Given the description of an element on the screen output the (x, y) to click on. 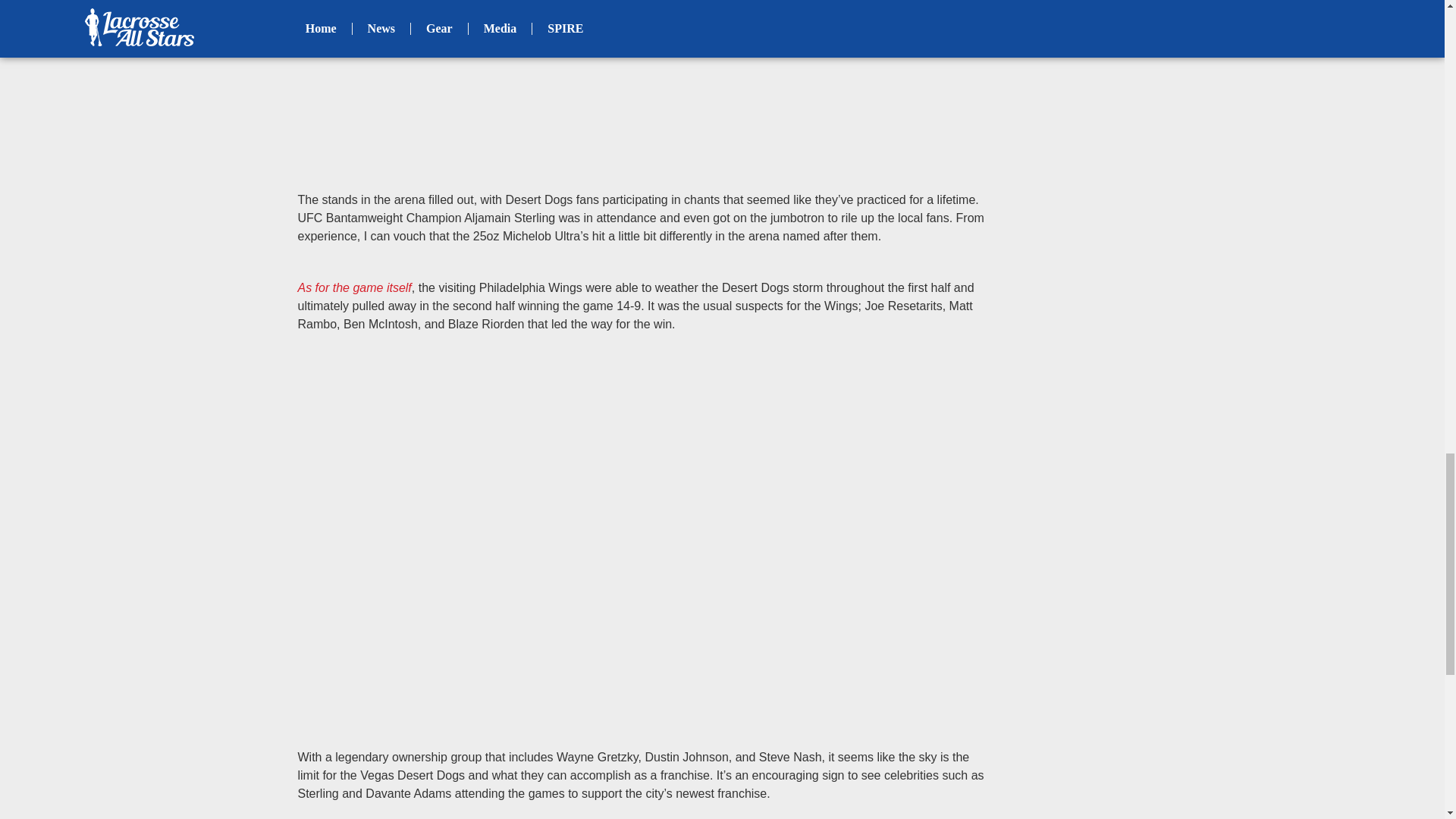
Mandalay Bay Las Vegas : An In Depth Look Inside (642, 75)
As for the game itself (353, 287)
